Given the description of an element on the screen output the (x, y) to click on. 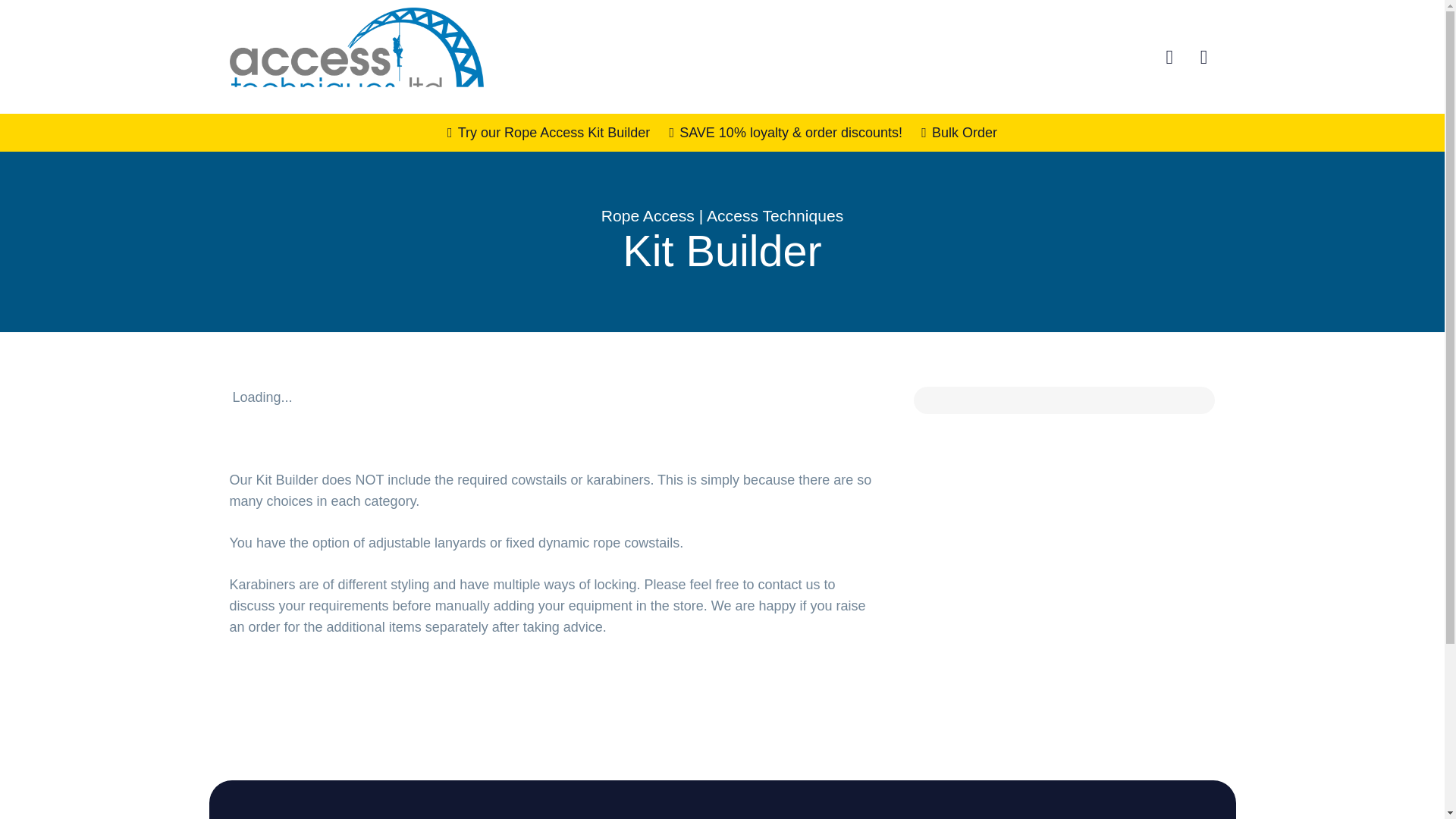
Bulk Order (959, 131)
Try our Rope Access Kit Builder (547, 131)
